Given the description of an element on the screen output the (x, y) to click on. 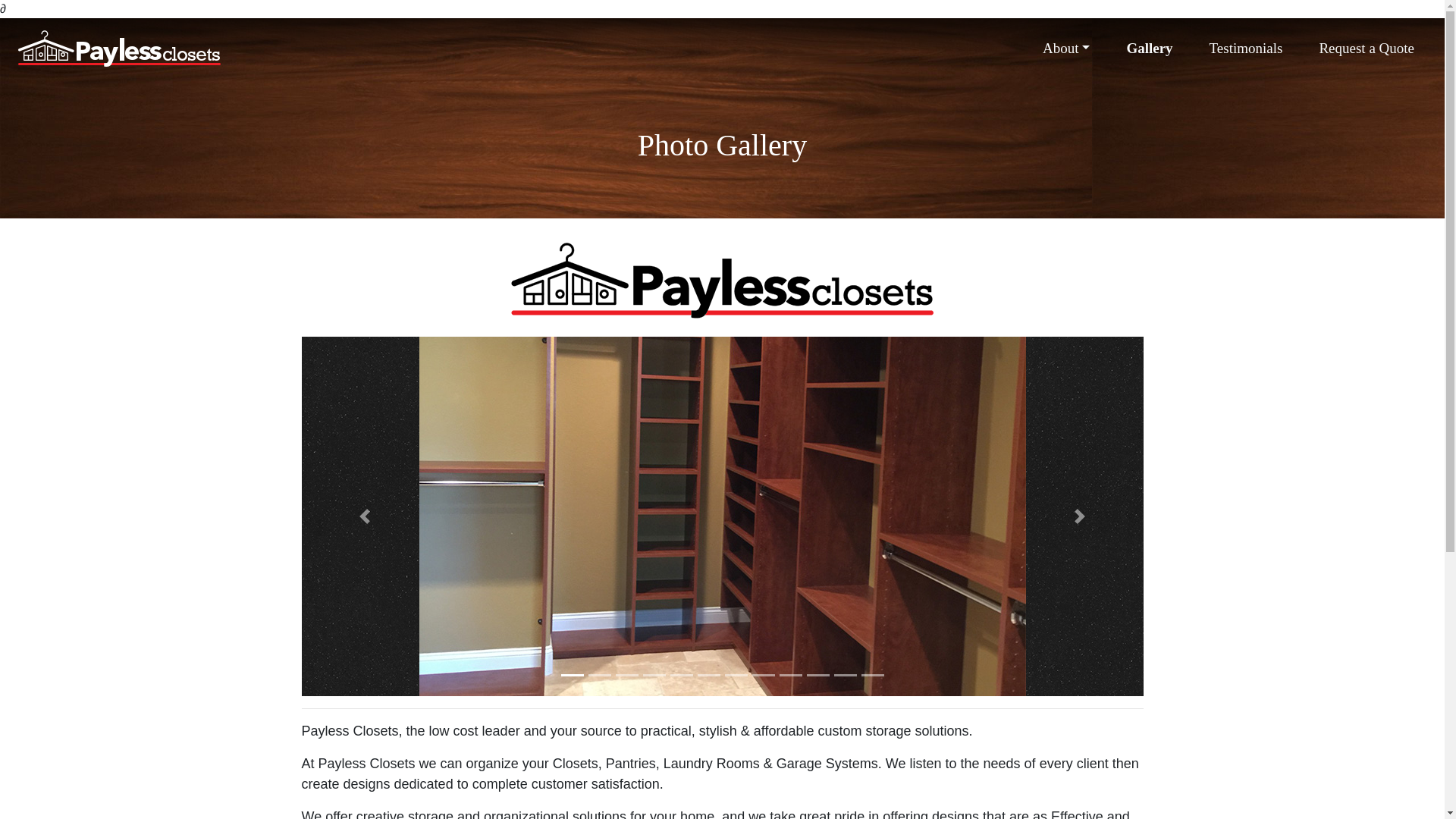
Gallery (1149, 48)
About (1066, 48)
Request a Quote (1366, 48)
Testimonials (1246, 48)
